Given the description of an element on the screen output the (x, y) to click on. 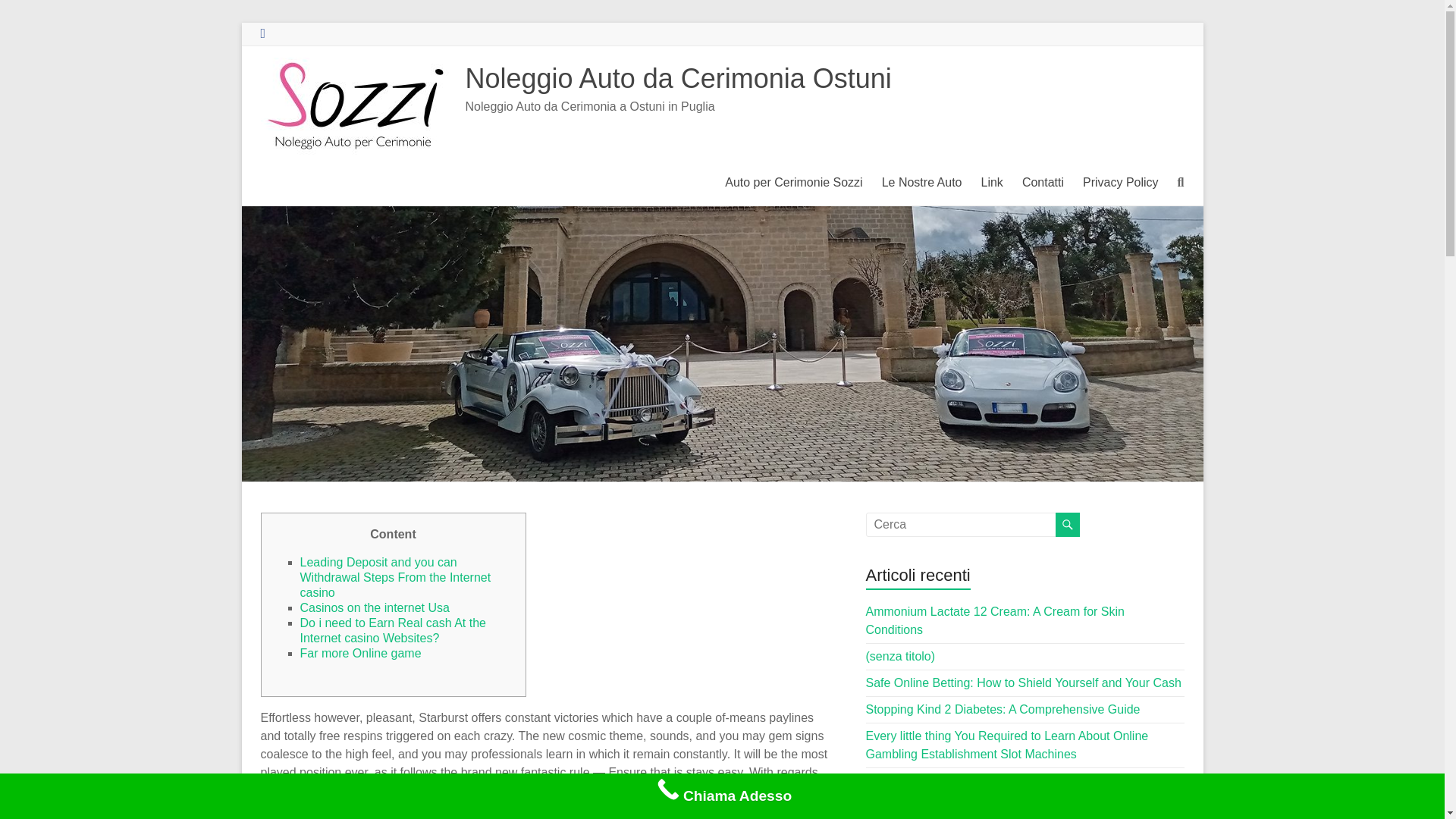
Le Nostre Auto (922, 182)
Do i need to Earn Real cash At the Internet casino Websites? (392, 630)
Casinos on the internet Usa (374, 607)
Ammonium Lactate 12 Cream: A Cream for Skin Conditions (995, 620)
Privacy Policy (1120, 182)
Safe Online Betting: How to Shield Yourself and Your Cash (1023, 682)
Far more Online game (360, 653)
Auto per Cerimonie Sozzi (793, 182)
Noleggio Auto da Cerimonia Ostuni (678, 78)
Link (992, 182)
Noleggio Auto da Cerimonia Ostuni (678, 78)
